Given the description of an element on the screen output the (x, y) to click on. 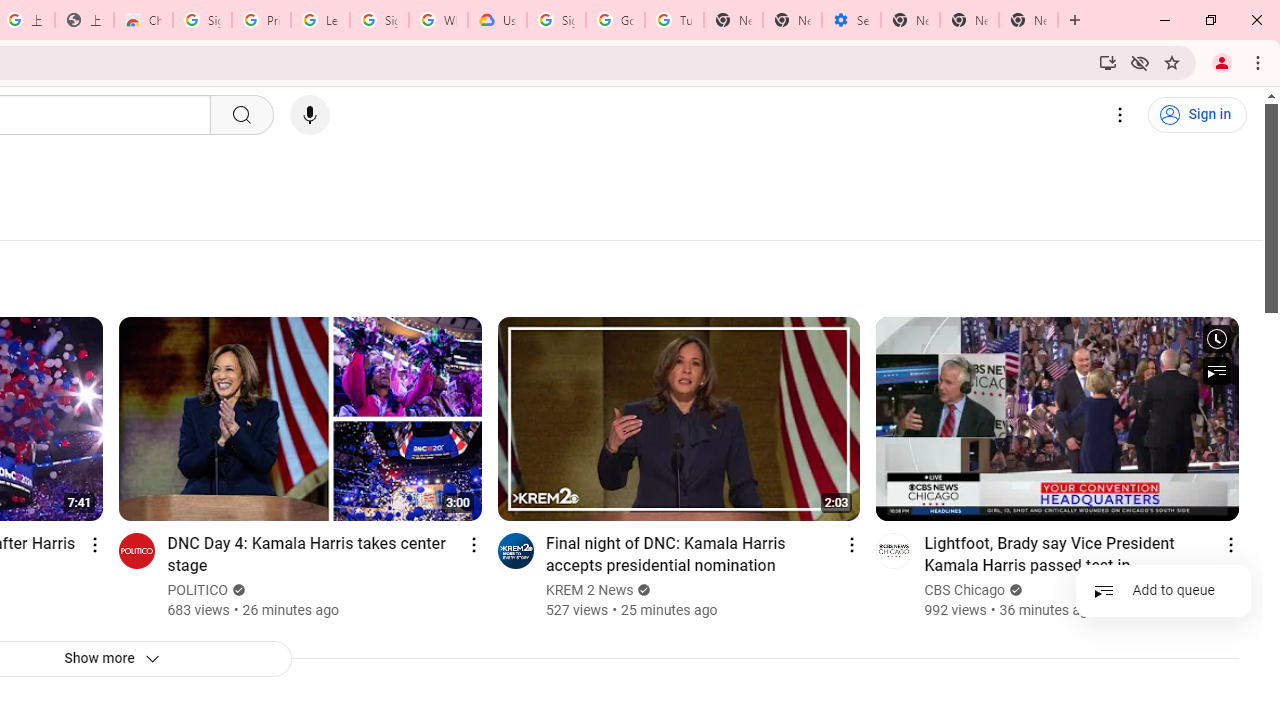
Add to queue (1163, 590)
Install YouTube (1107, 62)
New Tab (909, 20)
New Tab (1028, 20)
